Given the description of an element on the screen output the (x, y) to click on. 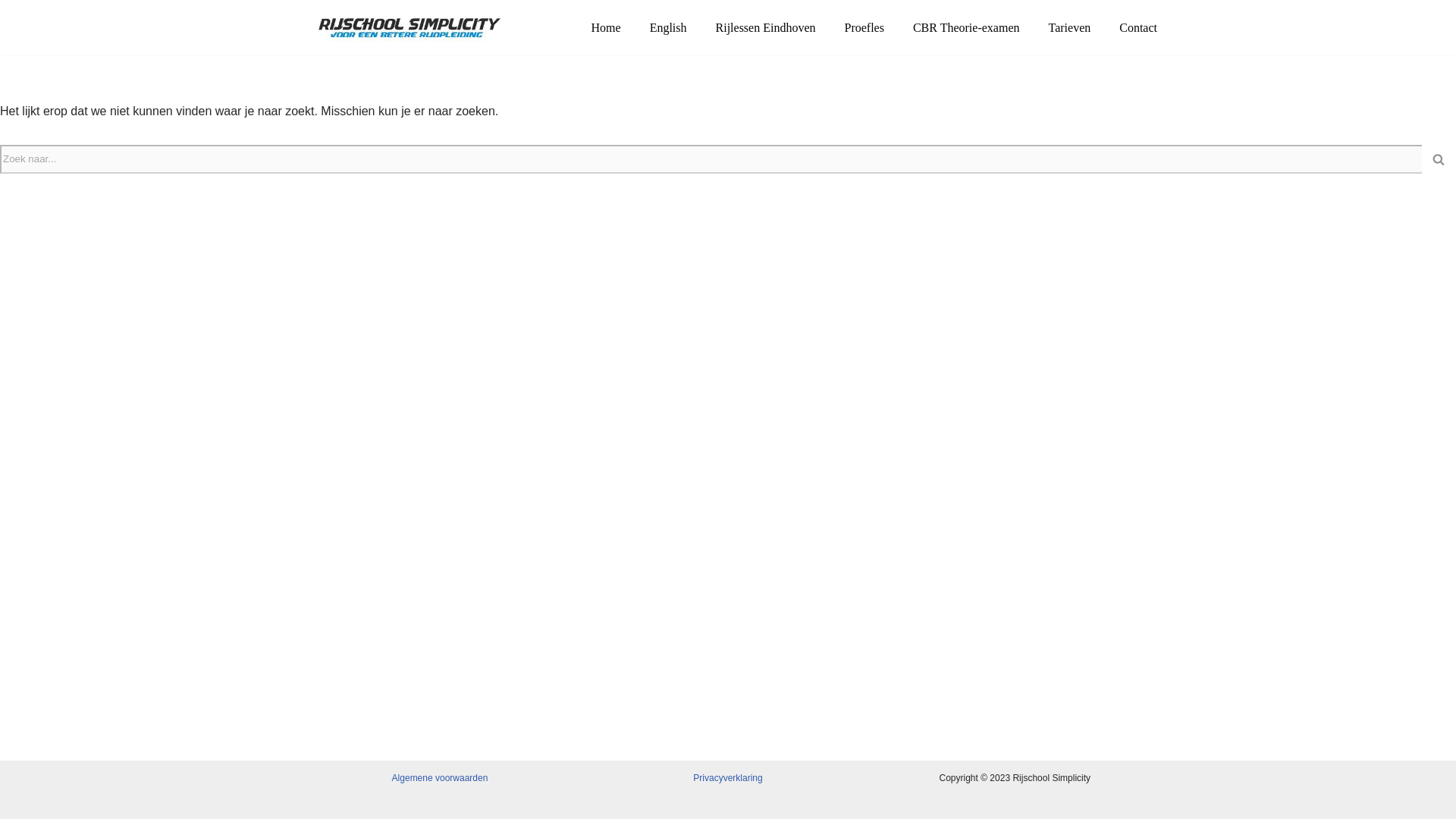
English (668, 27)
Ga naar de inhoud (11, 31)
Home (606, 27)
CBR Theorie-examen (966, 27)
Proefles (863, 27)
Tarieven (1069, 27)
Privacyverklaring (727, 777)
Rijlessen Eindhoven (765, 27)
Algemene voorwaarden (439, 777)
Contact (1138, 27)
